Given the description of an element on the screen output the (x, y) to click on. 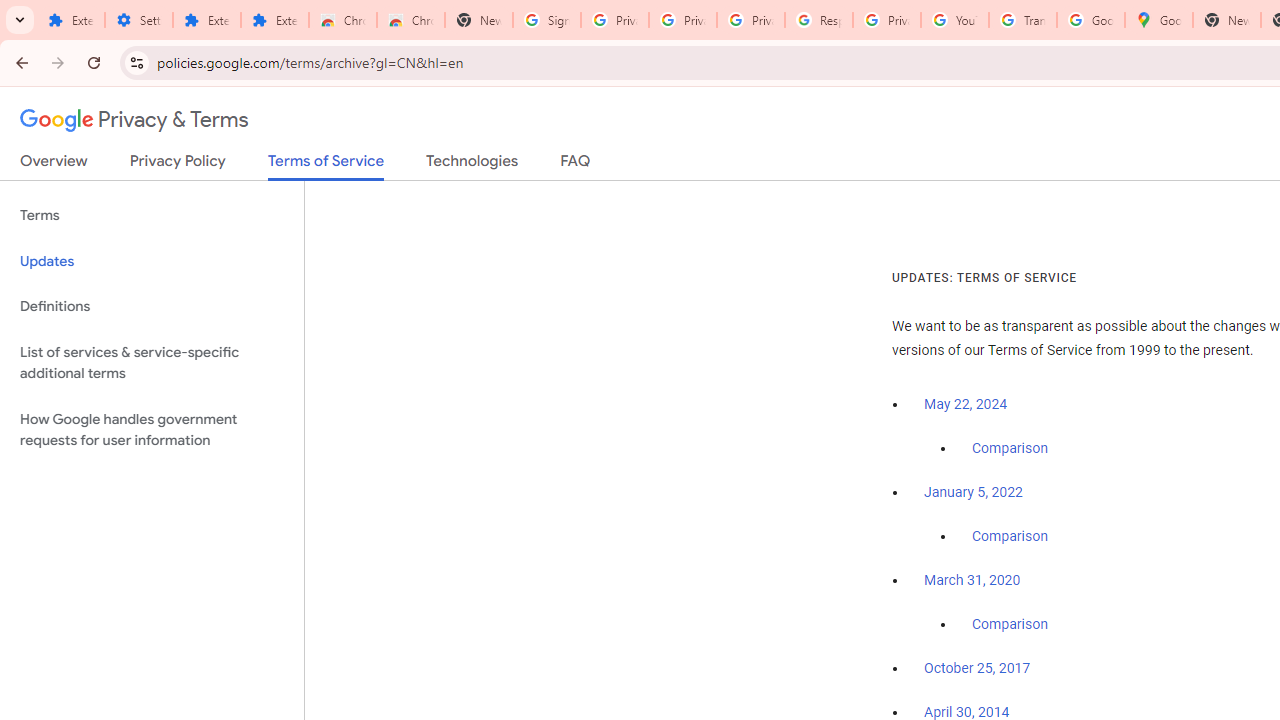
How Google handles government requests for user information (152, 429)
Technologies (472, 165)
Chrome Web Store - Themes (411, 20)
Extensions (70, 20)
March 31, 2020 (972, 580)
Definitions (152, 306)
Extensions (206, 20)
Sign in - Google Accounts (547, 20)
